Given the description of an element on the screen output the (x, y) to click on. 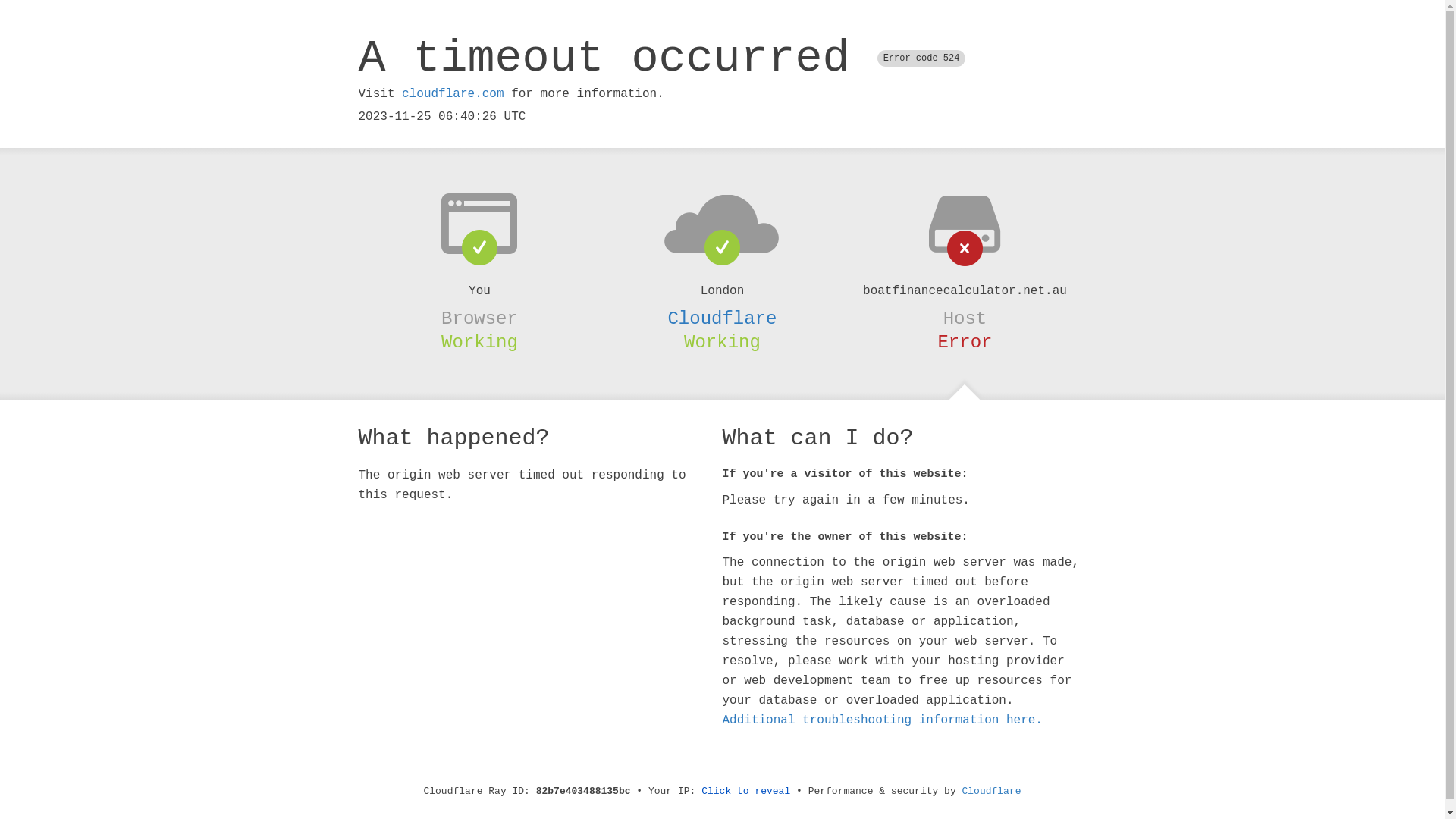
Additional troubleshooting information here. Element type: text (881, 720)
Cloudflare Element type: text (721, 318)
Click to reveal Element type: text (745, 791)
cloudflare.com Element type: text (452, 93)
Cloudflare Element type: text (991, 791)
